Given the description of an element on the screen output the (x, y) to click on. 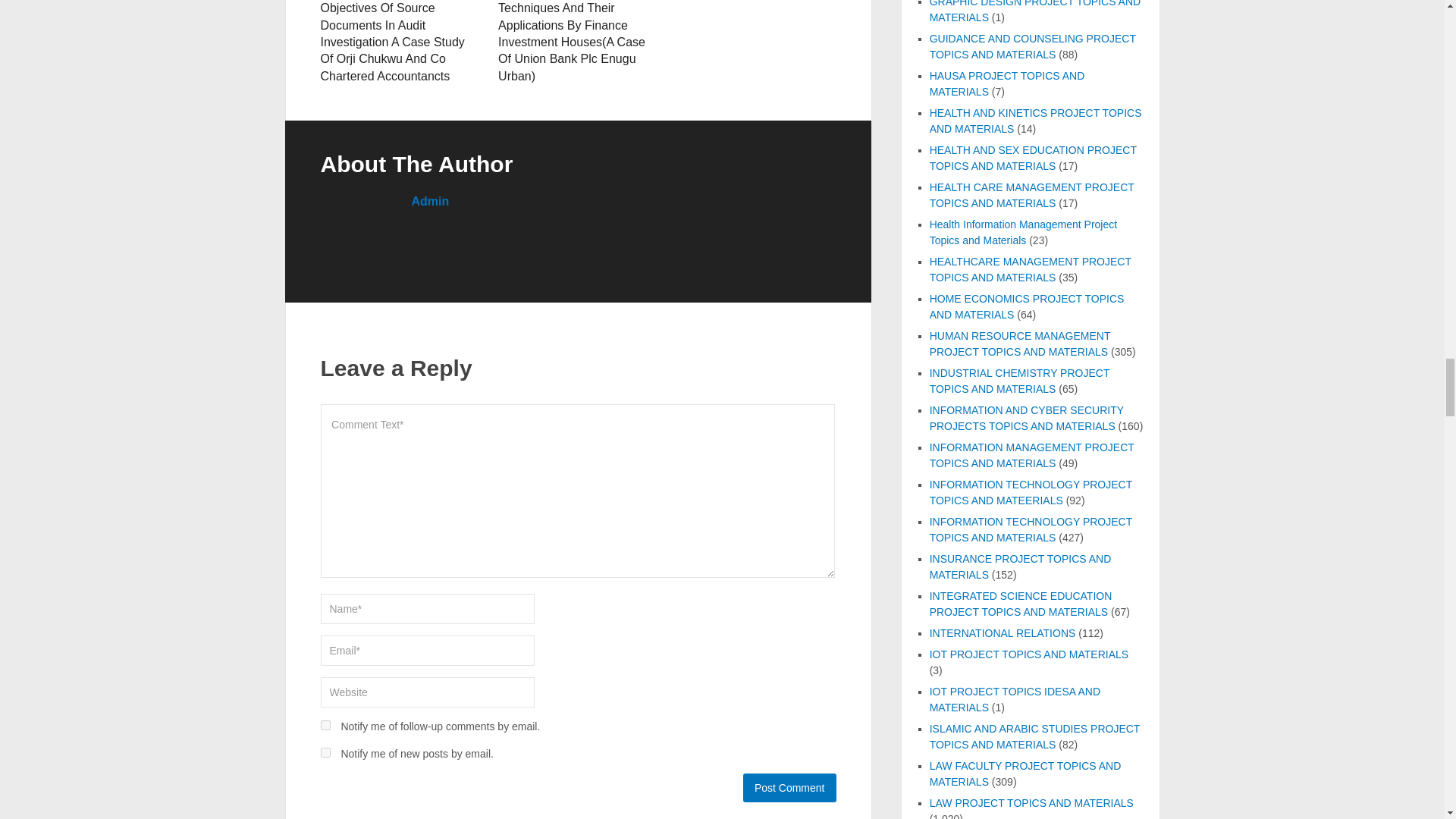
subscribe (325, 725)
subscribe (325, 752)
Post Comment (788, 787)
